Given the description of an element on the screen output the (x, y) to click on. 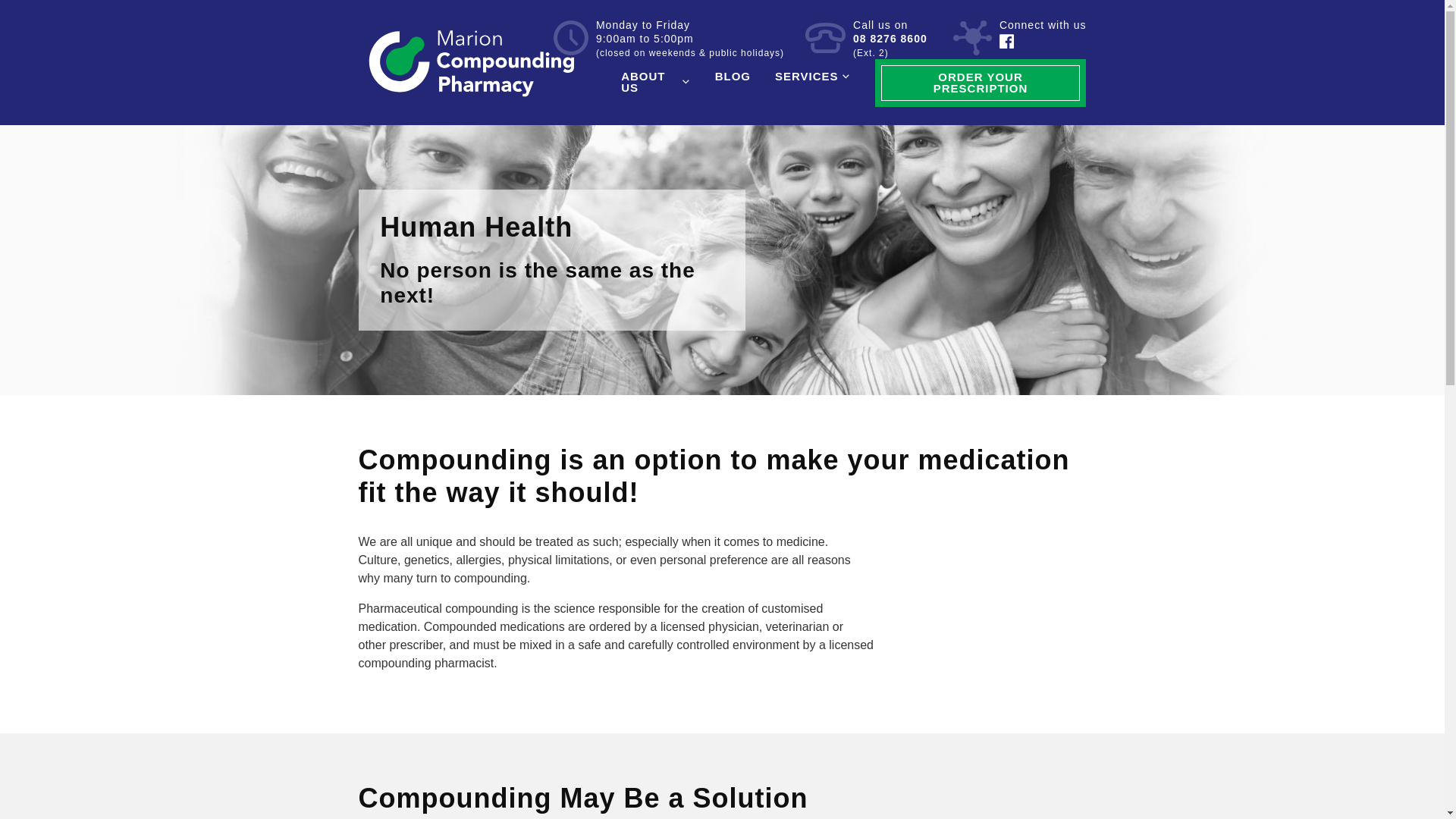
Call us on
08 8276 8600
(Ext. 2) Element type: text (866, 38)
ORDER YOUR PRESCRIPTION Element type: text (980, 82)
ABOUT US Element type: text (655, 81)
BLOG Element type: text (732, 76)
SERVICES Element type: text (812, 76)
